Given the description of an element on the screen output the (x, y) to click on. 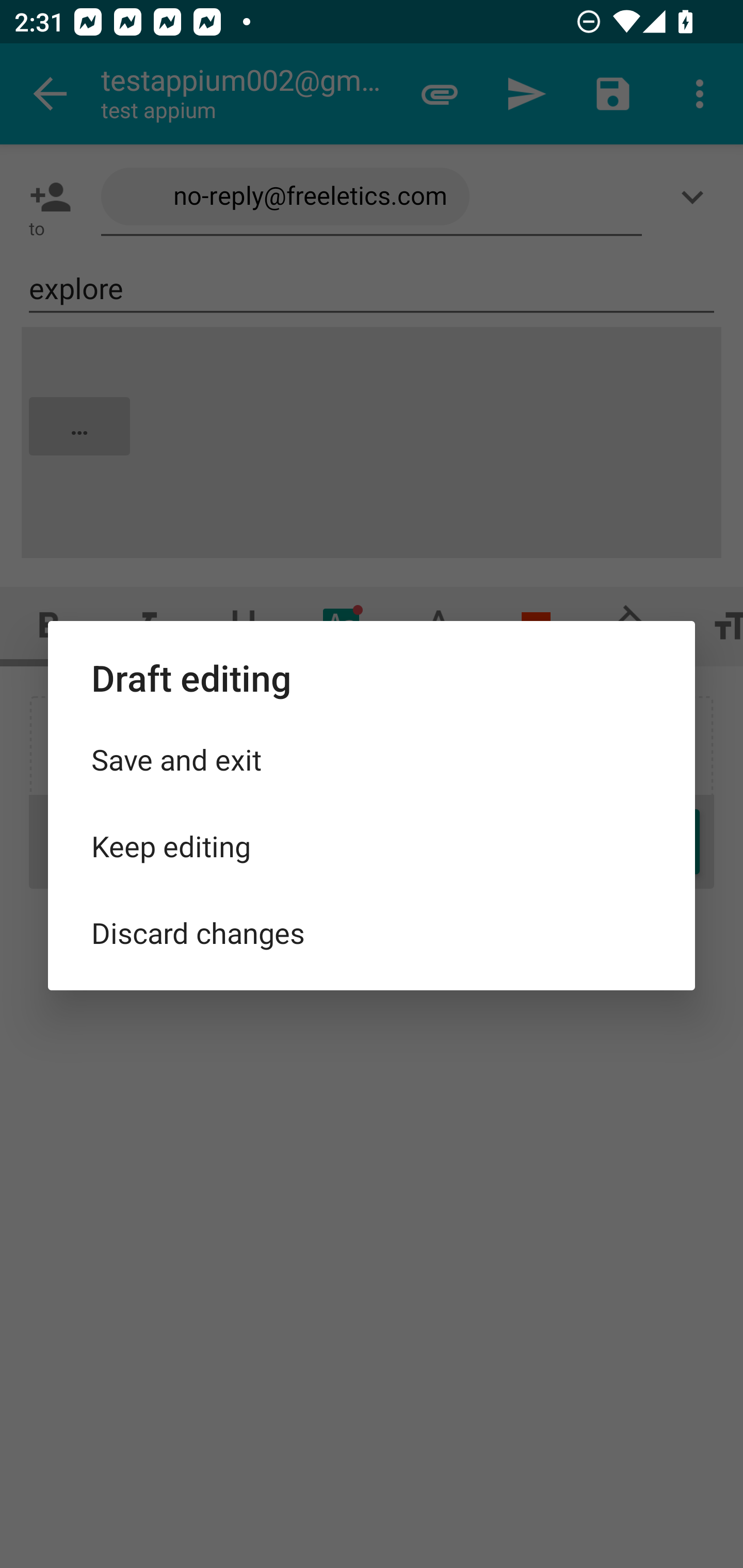
Save and exit (371, 759)
Keep editing (371, 845)
Discard changes (371, 932)
